Given the description of an element on the screen output the (x, y) to click on. 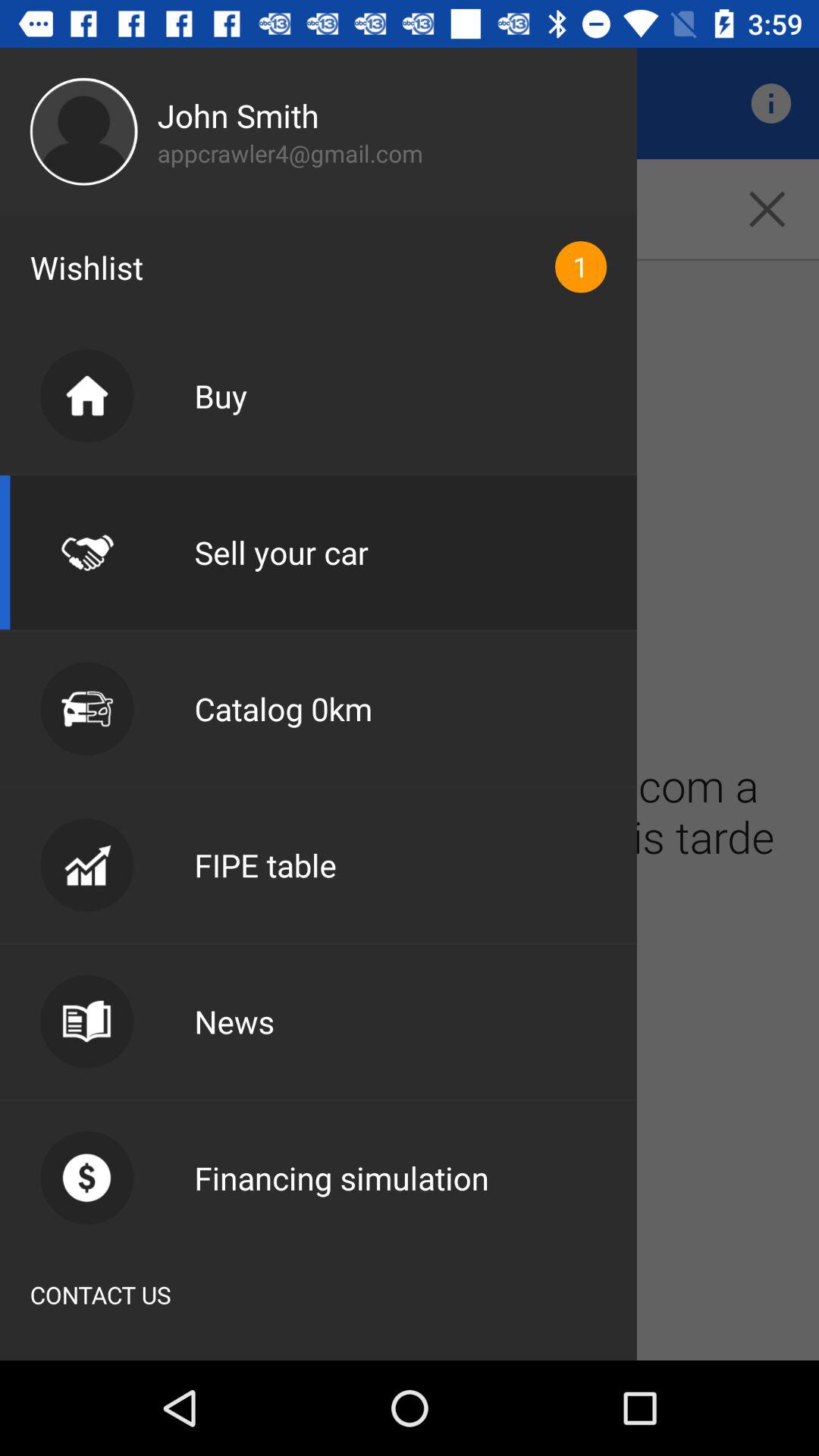
click on the icon which is on left to the text sell your car (87, 552)
